Given the description of an element on the screen output the (x, y) to click on. 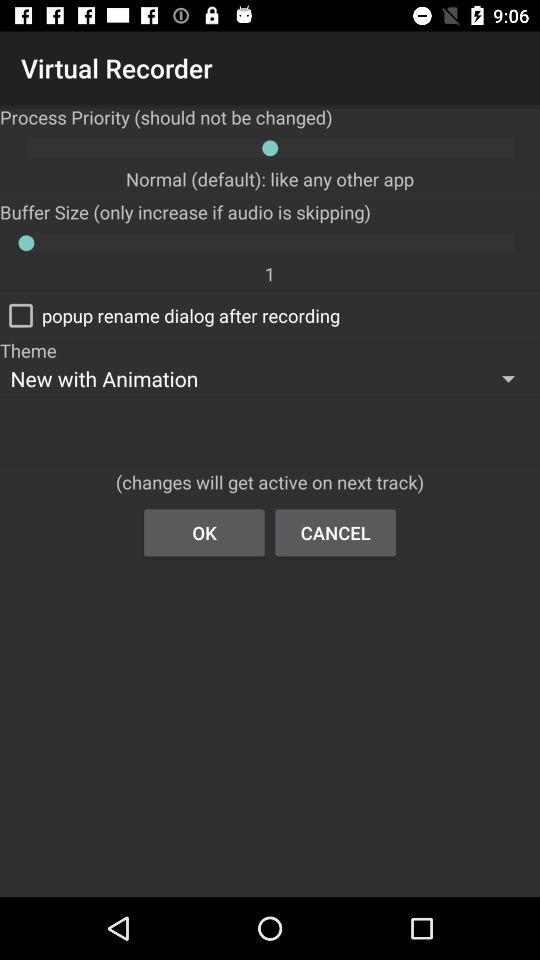
click the popup rename dialog checkbox (170, 315)
